Given the description of an element on the screen output the (x, y) to click on. 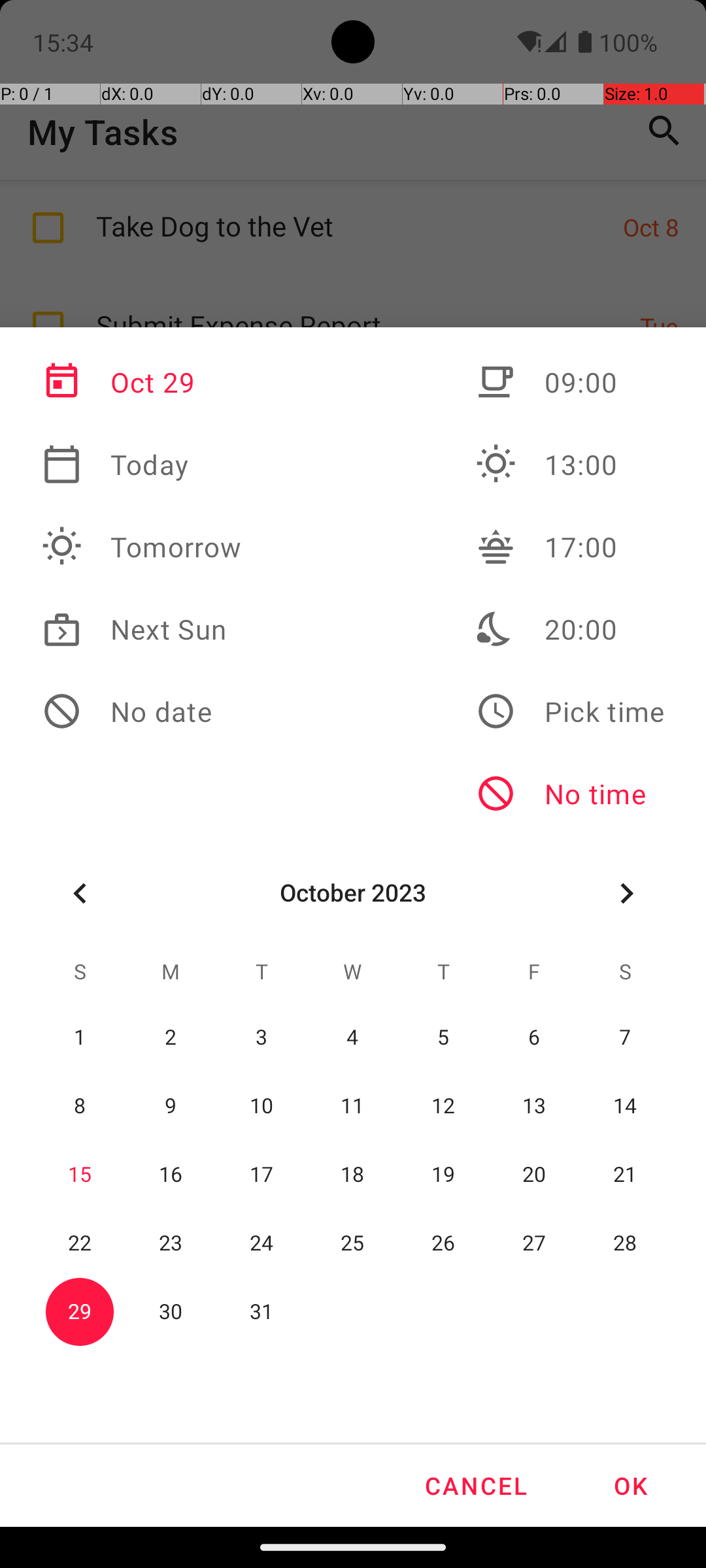
Oct 29 Element type: android.widget.CompoundButton (141, 382)
